Given the description of an element on the screen output the (x, y) to click on. 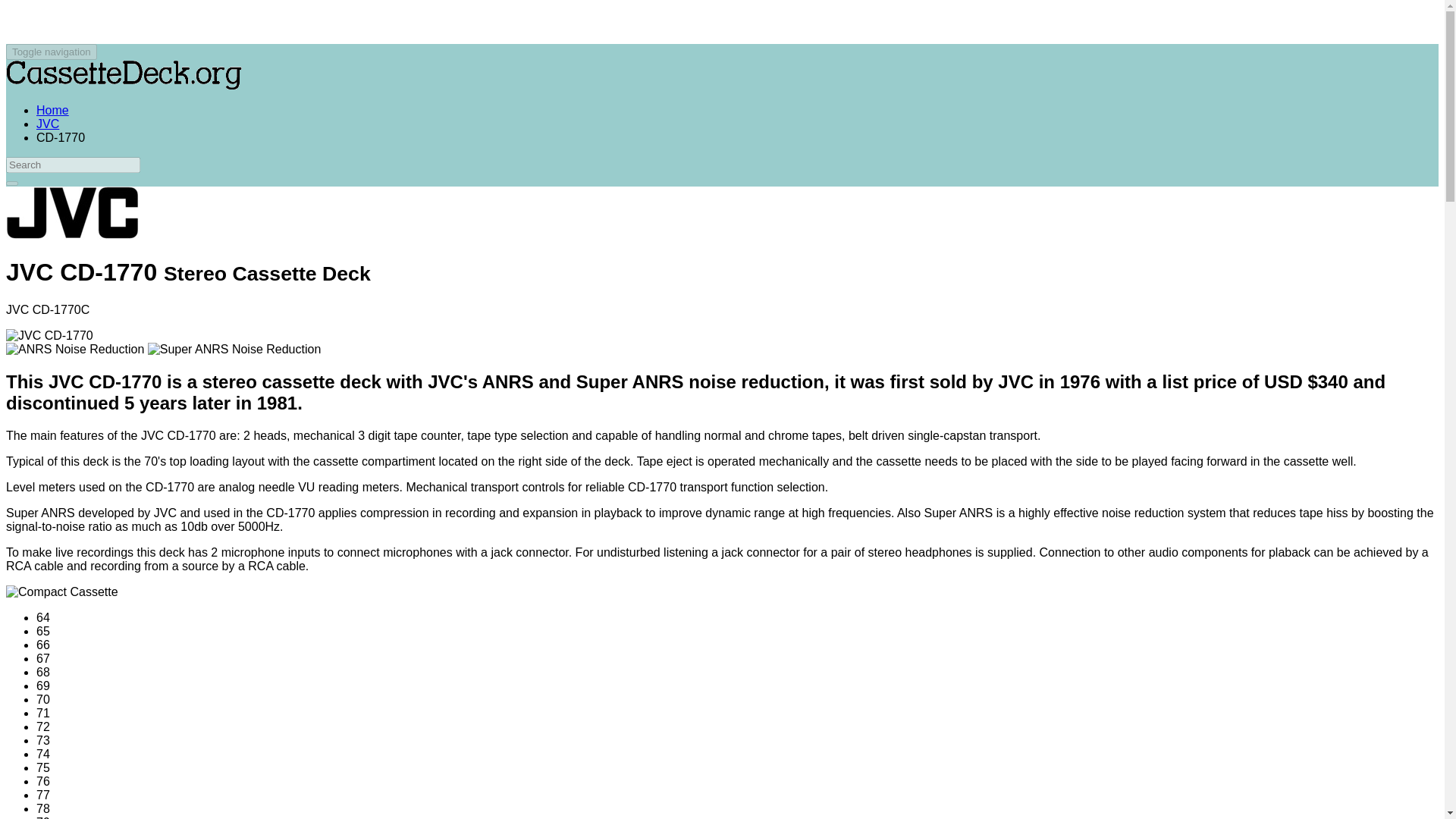
JVC (71, 212)
CD-1770 (60, 137)
Home (52, 110)
Toggle navigation (51, 51)
JVC (47, 123)
